Given the description of an element on the screen output the (x, y) to click on. 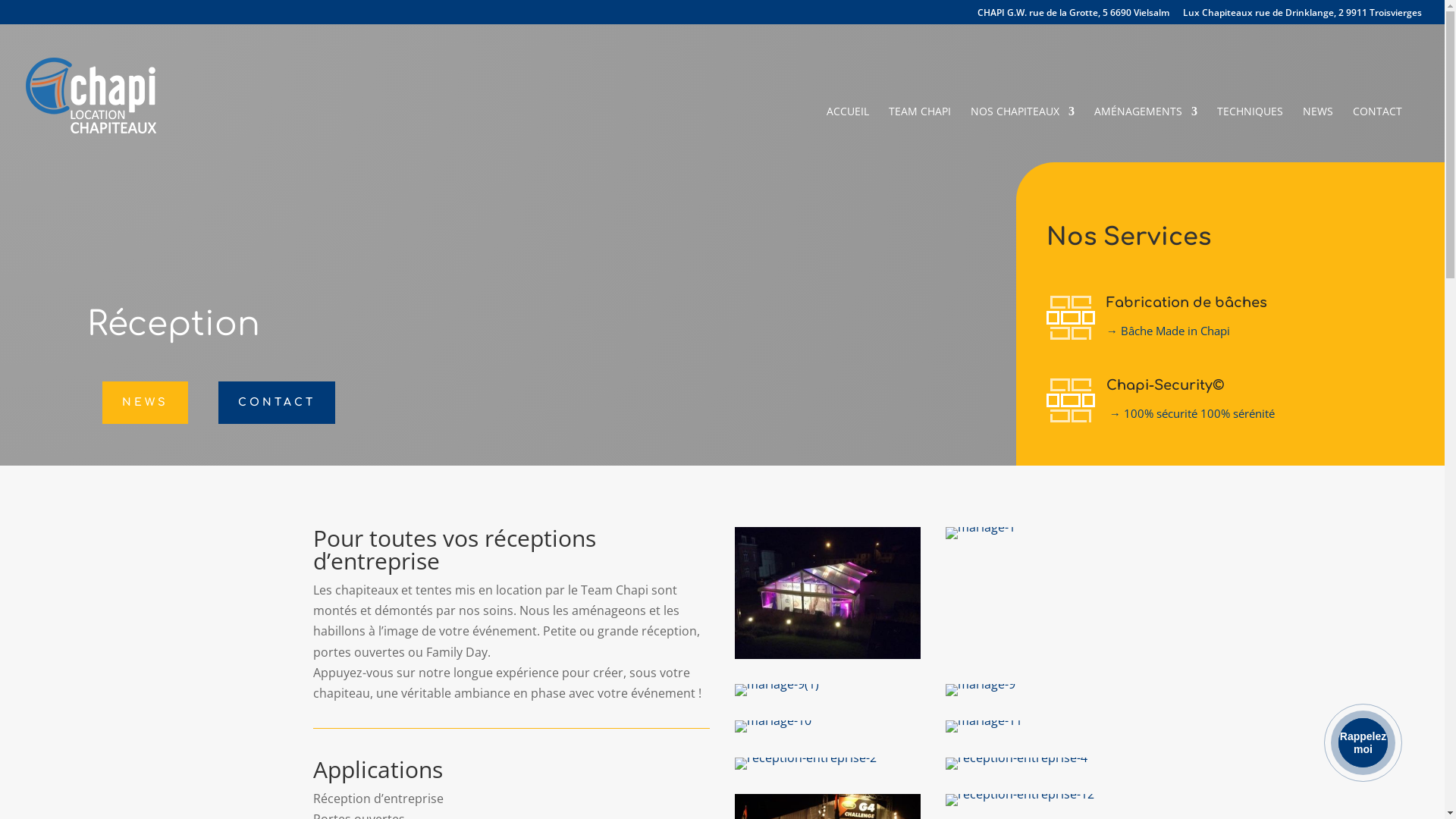
TECHNIQUES Element type: text (1250, 134)
NOS CHAPITEAUX Element type: text (1022, 134)
mariage-1 Element type: hover (980, 526)
mariage-9 Element type: hover (980, 683)
mariage-11 Element type: hover (983, 720)
CHAPI G.W. rue de la Grotte, 5 6690 Vielsalm Element type: text (1073, 15)
ACCUEIL Element type: text (847, 134)
TEAM CHAPI Element type: text (919, 134)
reception-entreprise-4 Element type: hover (1016, 757)
CONTACT Element type: text (1377, 134)
NEWS Element type: text (1317, 134)
mariage-10 Element type: hover (772, 720)
NEWS Element type: text (145, 402)
reception-entreprise-2 Element type: hover (805, 757)
mariage-9(1) Element type: hover (776, 683)
CONTACT Element type: text (276, 402)
11255199_189264084747320_2609480557743944289_n Element type: hover (827, 654)
Lux Chapiteaux rue de Drinklange, 2 9911 Troisvierges Element type: text (1302, 15)
reception-entreprise-12 Element type: hover (1019, 793)
